Given the description of an element on the screen output the (x, y) to click on. 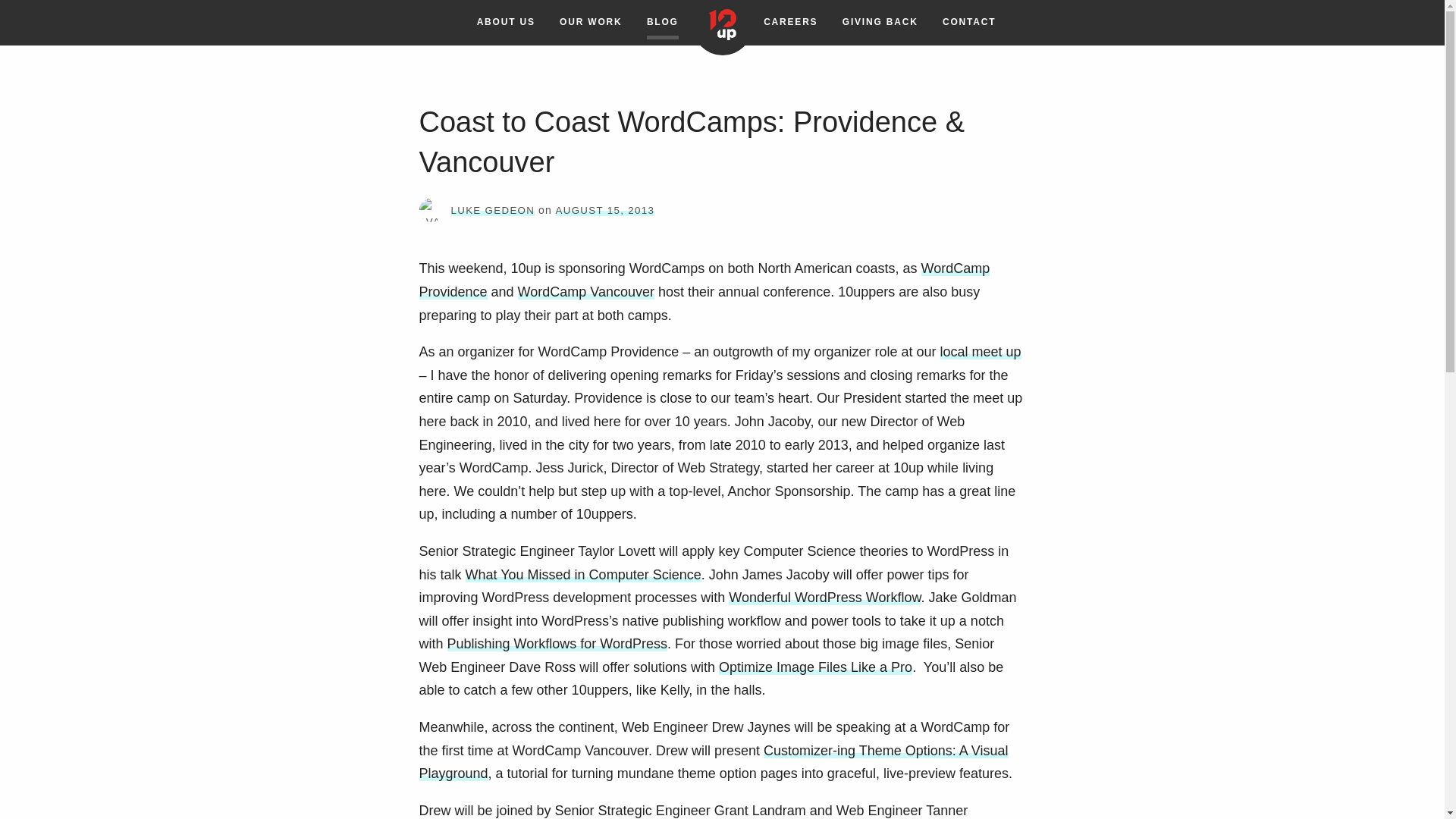
10up Portfolio (590, 22)
Customizer-ing Theme Options: A Visual Playground (713, 762)
AUGUST 15, 2013 (605, 209)
GIVING BACK (880, 22)
Optimize Image Files Like a Pro (815, 667)
local meet up (981, 351)
CONTACT (968, 22)
Optimize Image Files Like a Pro (815, 667)
LUKE GEDEON (491, 210)
What You Missed in Computer Science (583, 574)
Posts by Luke Gedeon (491, 210)
Publishing Workflows for WordPress (556, 643)
OUR WORK (590, 22)
Publishing Workflows for WordPress (556, 643)
Wonderful WordPress Workflow (824, 597)
